Given the description of an element on the screen output the (x, y) to click on. 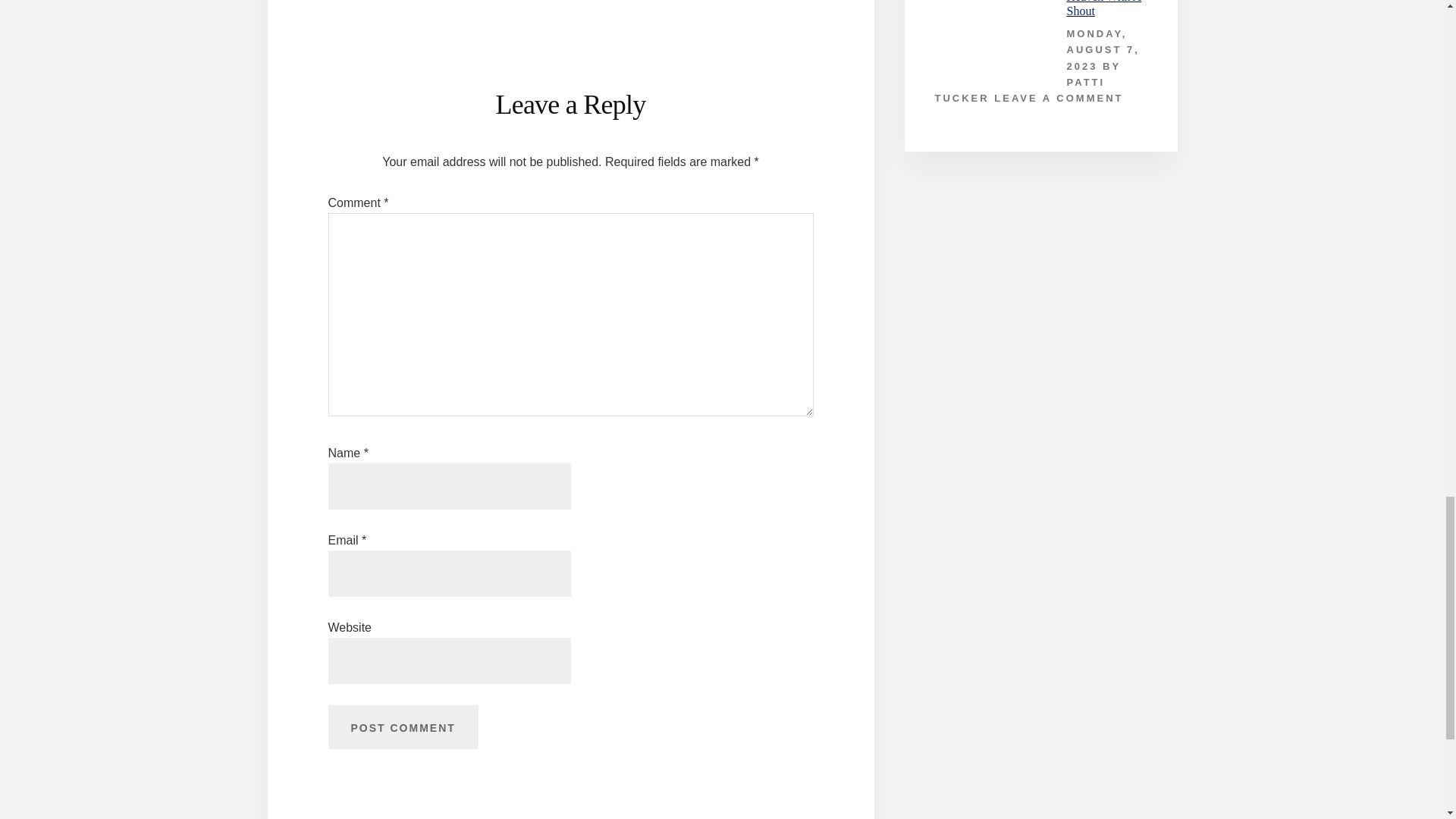
LEAVE A COMMENT (1058, 98)
Post Comment (402, 727)
PATTI TUCKER (1019, 90)
Post Comment (402, 727)
For The Lord Himself Shall Descend From Heaven With A Shout (1103, 8)
